Given the description of an element on the screen output the (x, y) to click on. 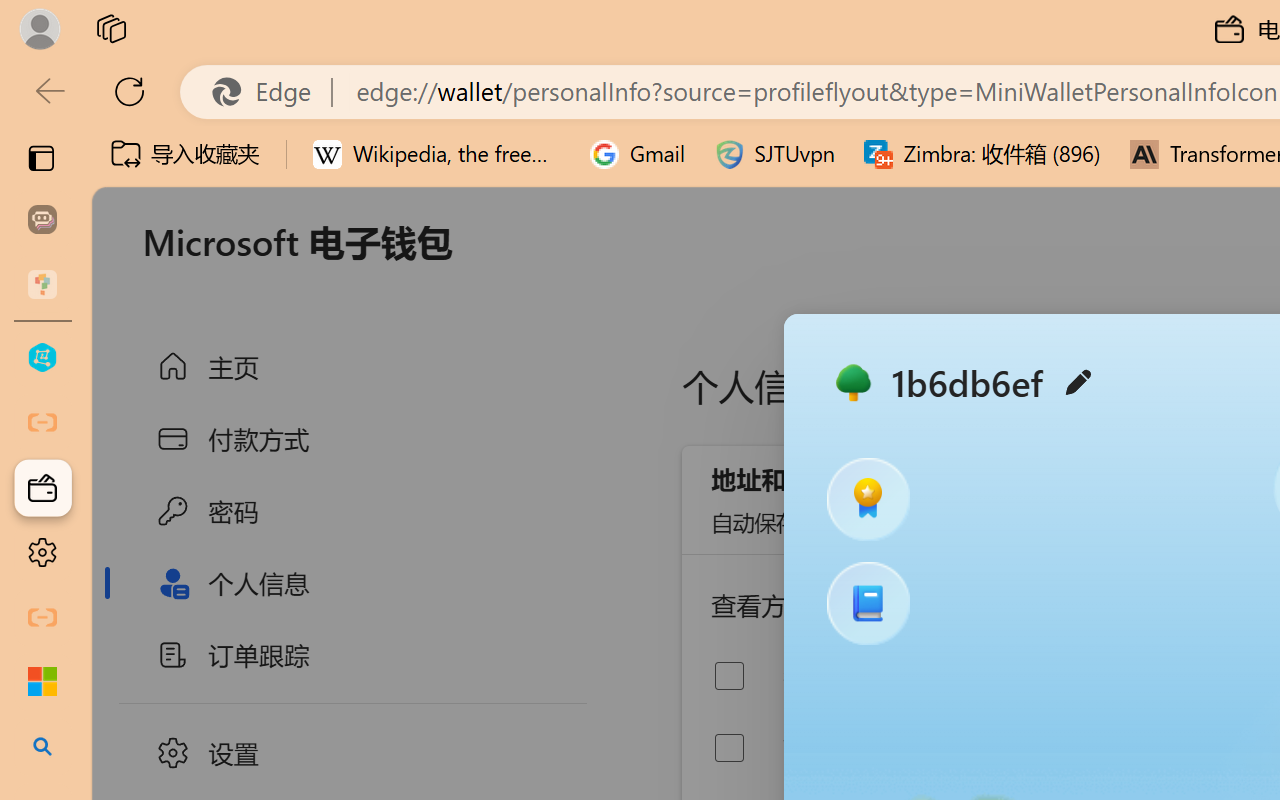
Wang Yian (880, 747)
Microsoft security help and learning (42, 681)
Gmail (637, 154)
